Given the description of an element on the screen output the (x, y) to click on. 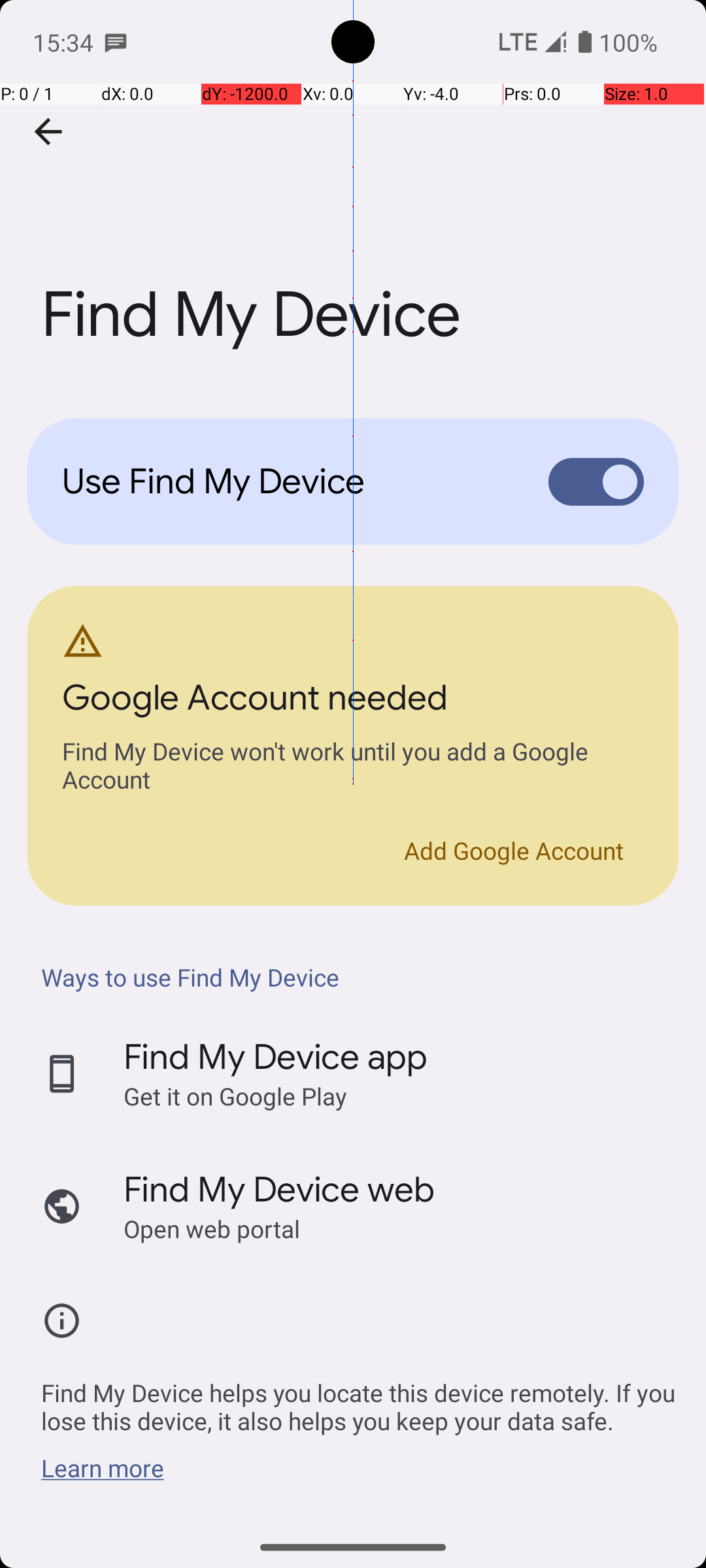
Find My Device Element type: android.widget.FrameLayout (353, 195)
Use Find My Device Element type: android.widget.TextView (284, 481)
Google Account needed Element type: android.widget.TextView (255, 701)
Find My Device won't work until you add a Google Account Element type: android.widget.TextView (352, 768)
Add Google Account Element type: android.widget.Button (513, 850)
Ways to use Find My Device Element type: android.widget.TextView (359, 976)
Find My Device app Element type: android.widget.TextView (275, 1056)
Get it on Google Play Element type: android.widget.TextView (235, 1095)
Find My Device web Element type: android.widget.TextView (278, 1189)
Open web portal Element type: android.widget.TextView (211, 1228)
Find My Device helps you locate this device remotely. If you lose this device, it also helps you keep your data safe. Element type: android.widget.TextView (359, 1399)
